Given the description of an element on the screen output the (x, y) to click on. 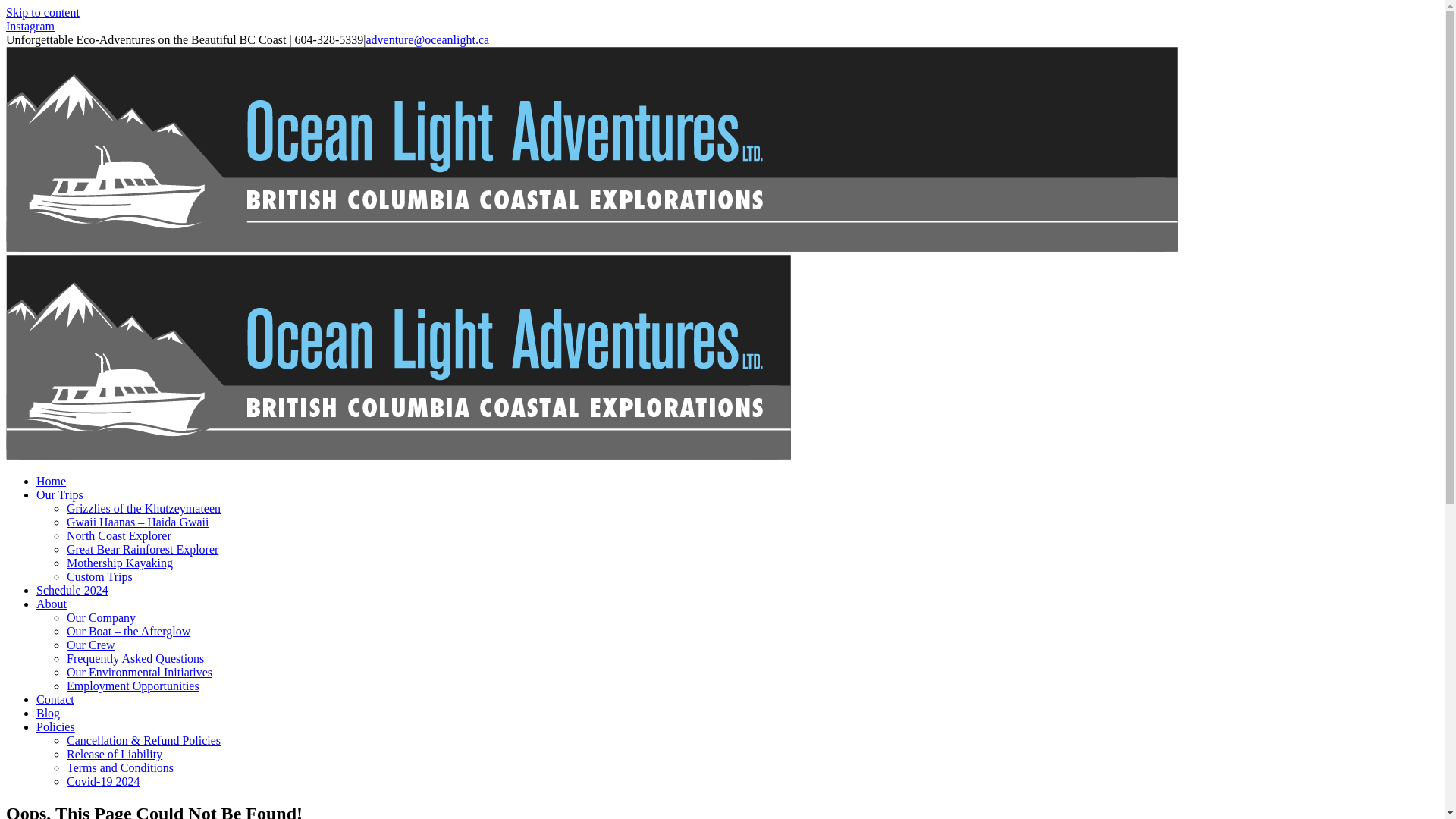
Great Bear Rainforest Explorer Element type: text (142, 548)
Custom Trips Element type: text (99, 576)
Instagram Element type: text (30, 25)
Grizzlies of the Khutzeymateen Element type: text (143, 508)
Frequently Asked Questions Element type: text (134, 658)
Schedule 2024 Element type: text (72, 589)
Employment Opportunities Element type: text (132, 685)
North Coast Explorer Element type: text (118, 535)
Our Crew Element type: text (90, 644)
Blog Element type: text (47, 712)
adventure@oceanlight.ca Element type: text (427, 39)
Our Company Element type: text (100, 617)
Skip to content Element type: text (42, 12)
Cancellation & Refund Policies Element type: text (143, 740)
Our Environmental Initiatives Element type: text (139, 671)
Release of Liability Element type: text (114, 753)
Contact Element type: text (55, 699)
Our Trips Element type: text (59, 494)
Terms and Conditions Element type: text (119, 767)
Covid-19 2024 Element type: text (102, 781)
Policies Element type: text (55, 726)
About Element type: text (51, 603)
Home Element type: text (50, 480)
Mothership Kayaking Element type: text (119, 562)
